Given the description of an element on the screen output the (x, y) to click on. 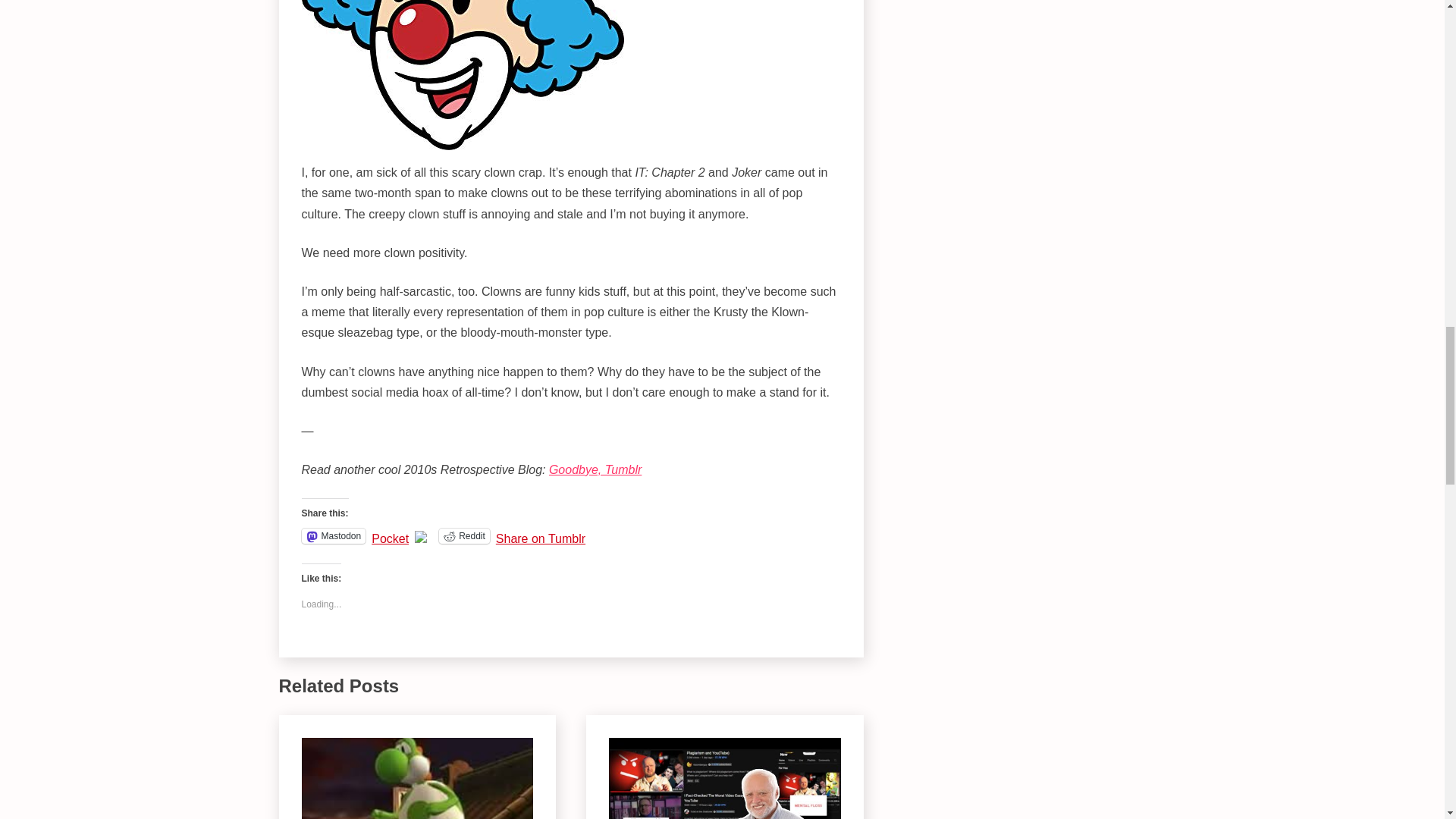
Pocket (390, 538)
Click to share on Reddit (464, 535)
Mastodon (333, 535)
Share on Tumblr (540, 535)
Goodbye, Tumblr (595, 469)
Click to share on Mastodon (333, 535)
Share on Tumblr (540, 535)
Reddit (464, 535)
